Given the description of an element on the screen output the (x, y) to click on. 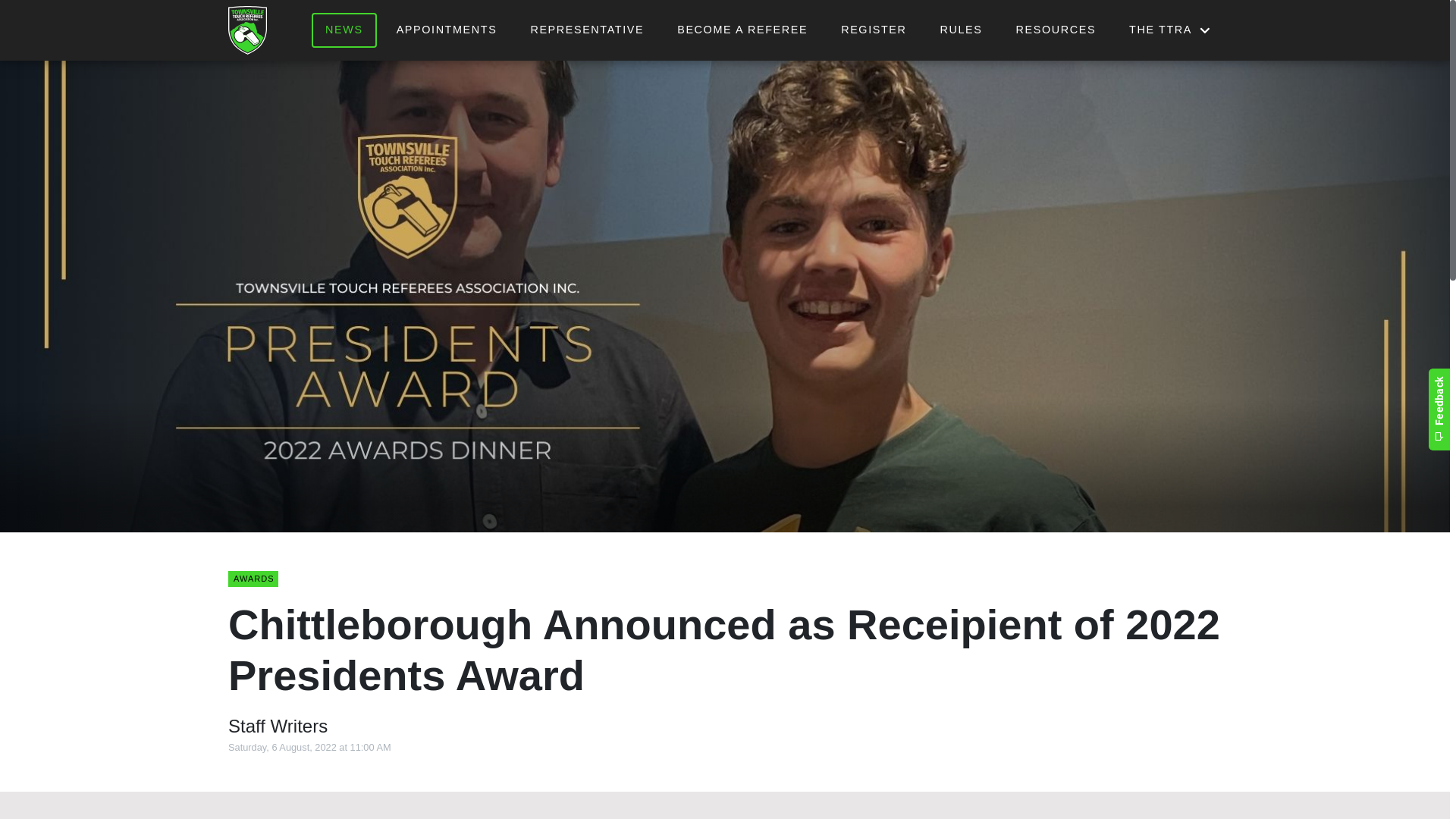
REGISTER Element type: text (873, 29)
APPOINTMENTS Element type: text (446, 29)
RESOURCES Element type: text (1056, 29)
REPRESENTATIVE Element type: text (586, 29)
RULES Element type: text (961, 29)
BECOME A REFEREE Element type: text (742, 29)
THE TTRA Element type: text (1166, 29)
NEWS Element type: text (343, 29)
